Given the description of an element on the screen output the (x, y) to click on. 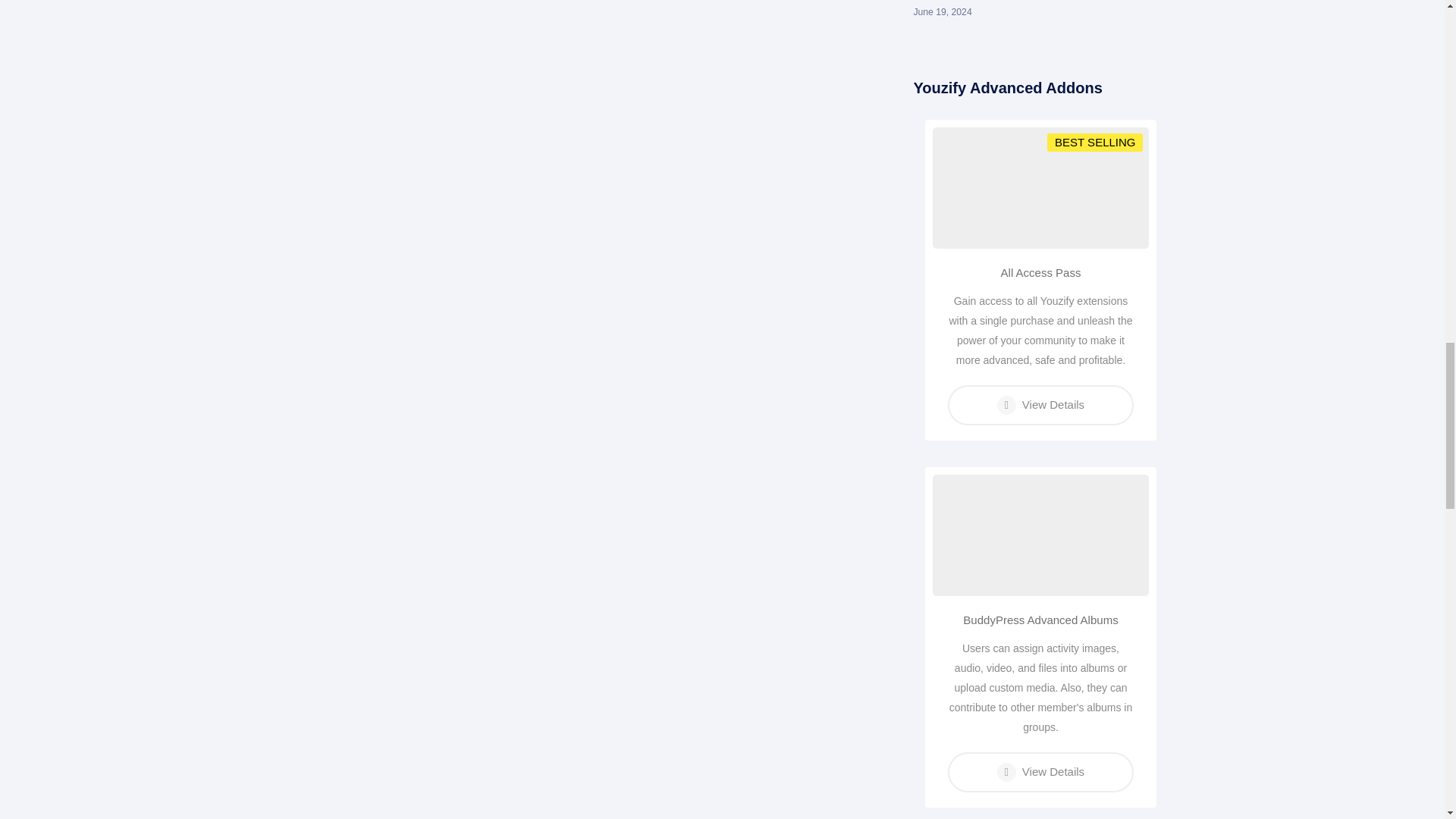
View Details (1040, 404)
View Details (1040, 772)
BuddyPress Advanced Albums (1040, 619)
All Access Pass (1040, 272)
